Given the description of an element on the screen output the (x, y) to click on. 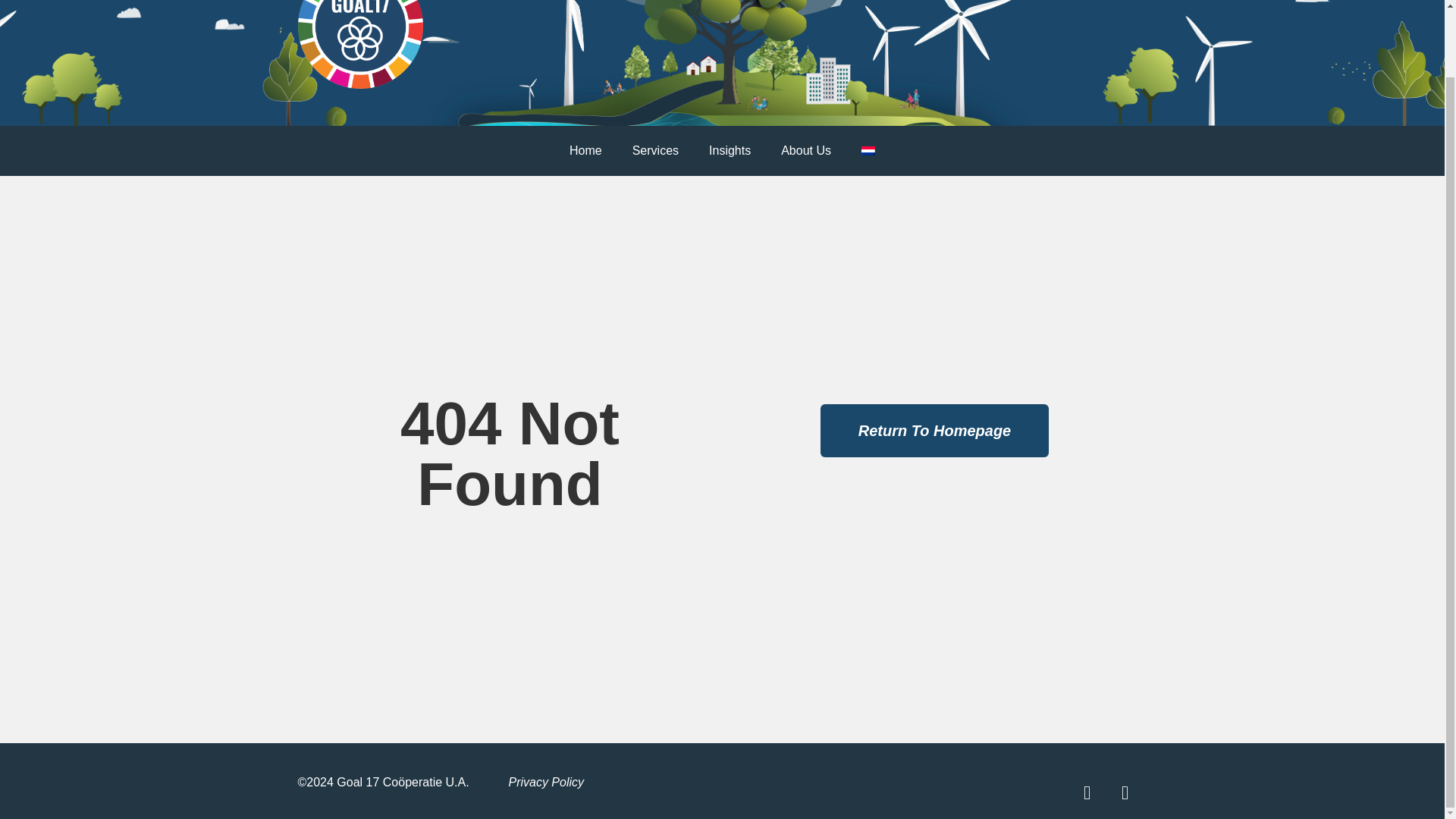
About Us (805, 150)
Home (585, 150)
Services (655, 150)
Privacy Policy (545, 781)
Return To Homepage (935, 430)
Insights (729, 150)
